Given the description of an element on the screen output the (x, y) to click on. 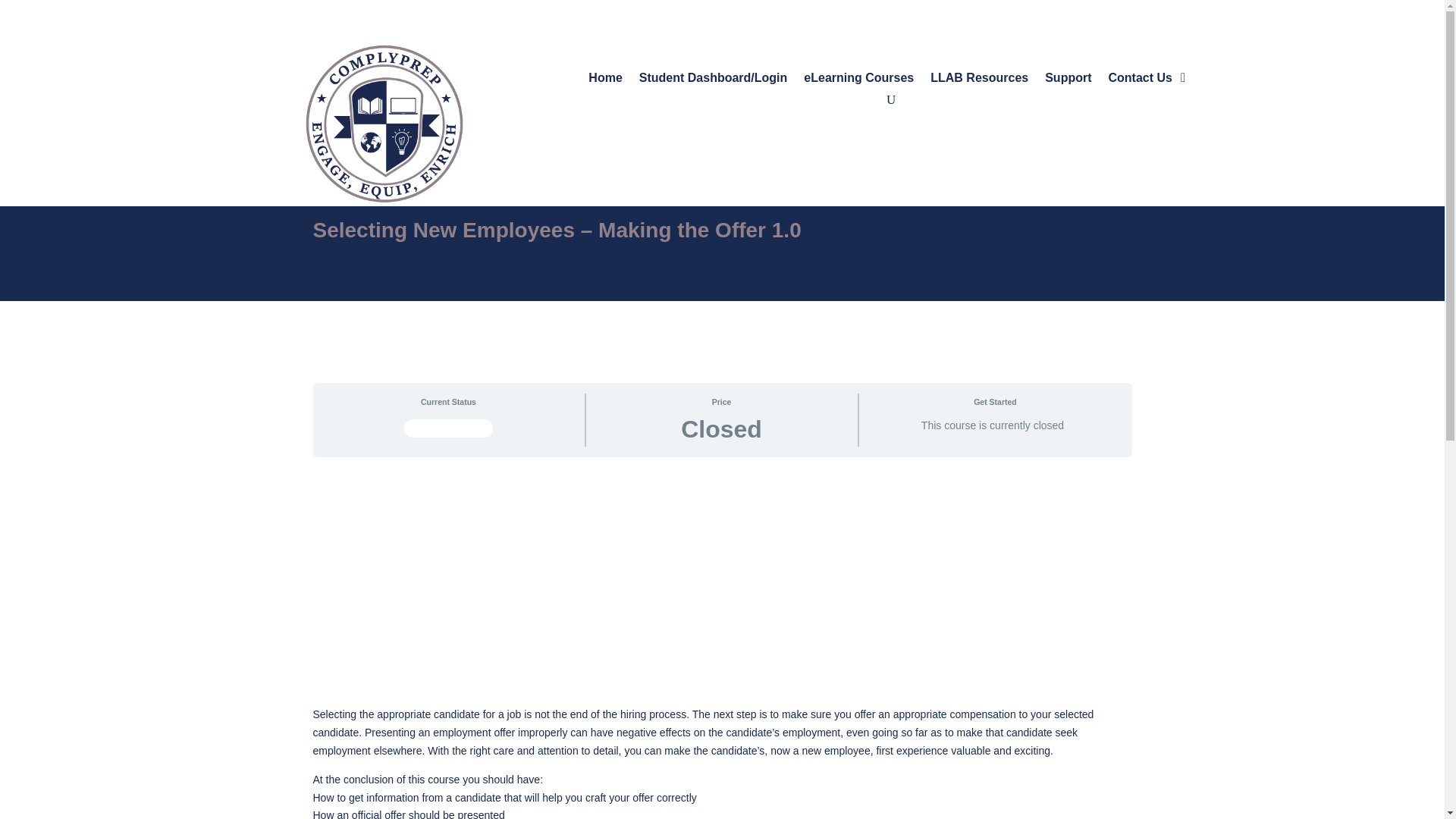
Support (1067, 81)
LLAB Resources (978, 81)
eLearning Courses (858, 81)
Contact Us (1140, 81)
Home (604, 81)
12 (384, 122)
